Given the description of an element on the screen output the (x, y) to click on. 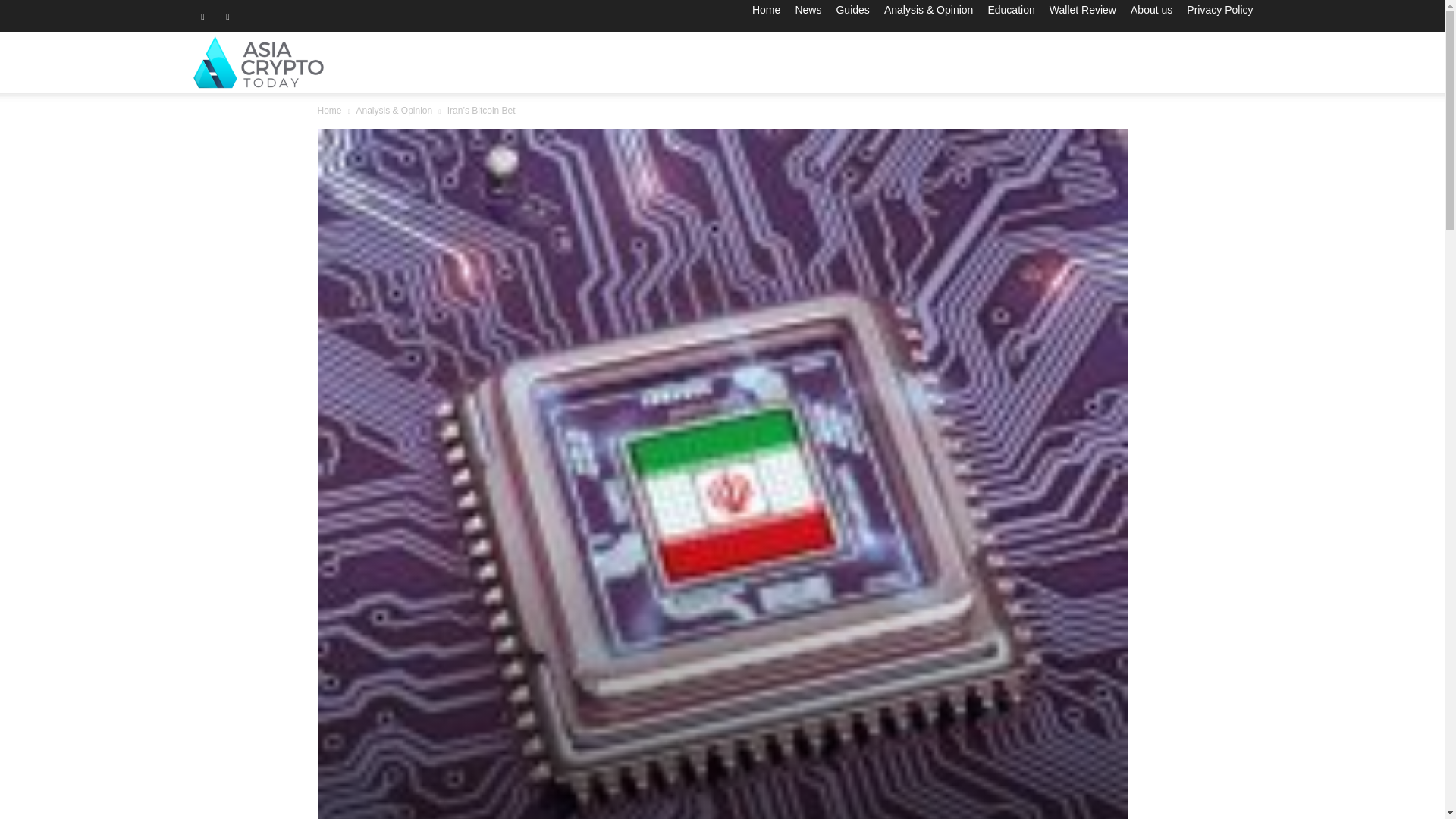
Privacy Policy (1219, 9)
Home (766, 9)
Education (1010, 9)
News (807, 9)
Wallet Review (1082, 9)
Guides (852, 9)
About us (1151, 9)
